Given the description of an element on the screen output the (x, y) to click on. 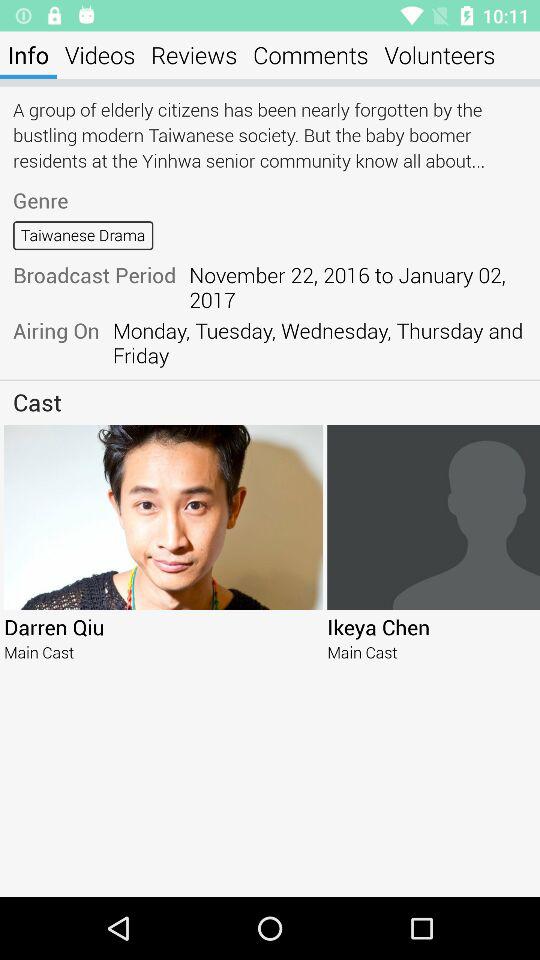
flip until comments icon (310, 54)
